Given the description of an element on the screen output the (x, y) to click on. 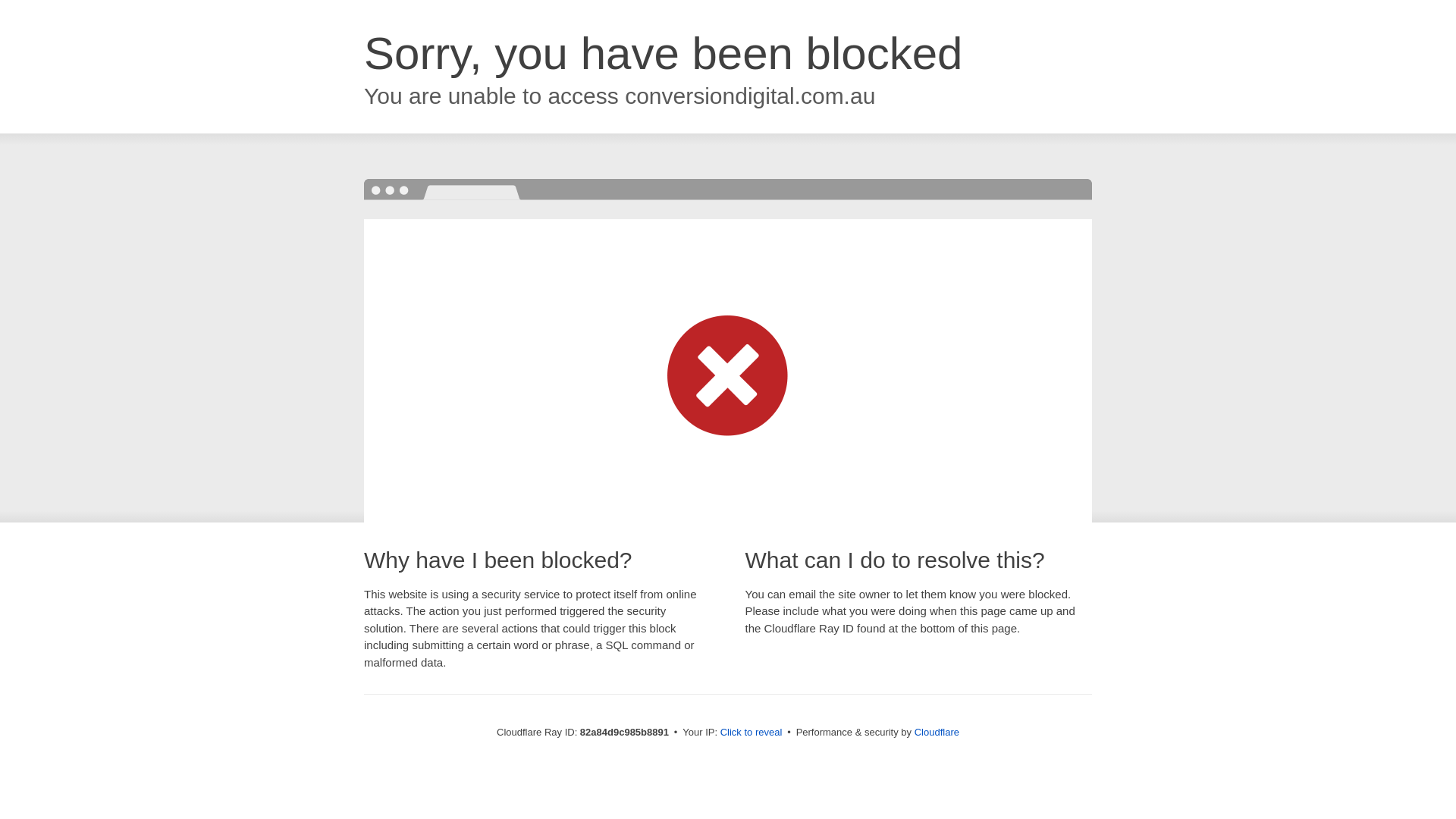
Click to reveal Element type: text (751, 732)
Cloudflare Element type: text (936, 731)
